Given the description of an element on the screen output the (x, y) to click on. 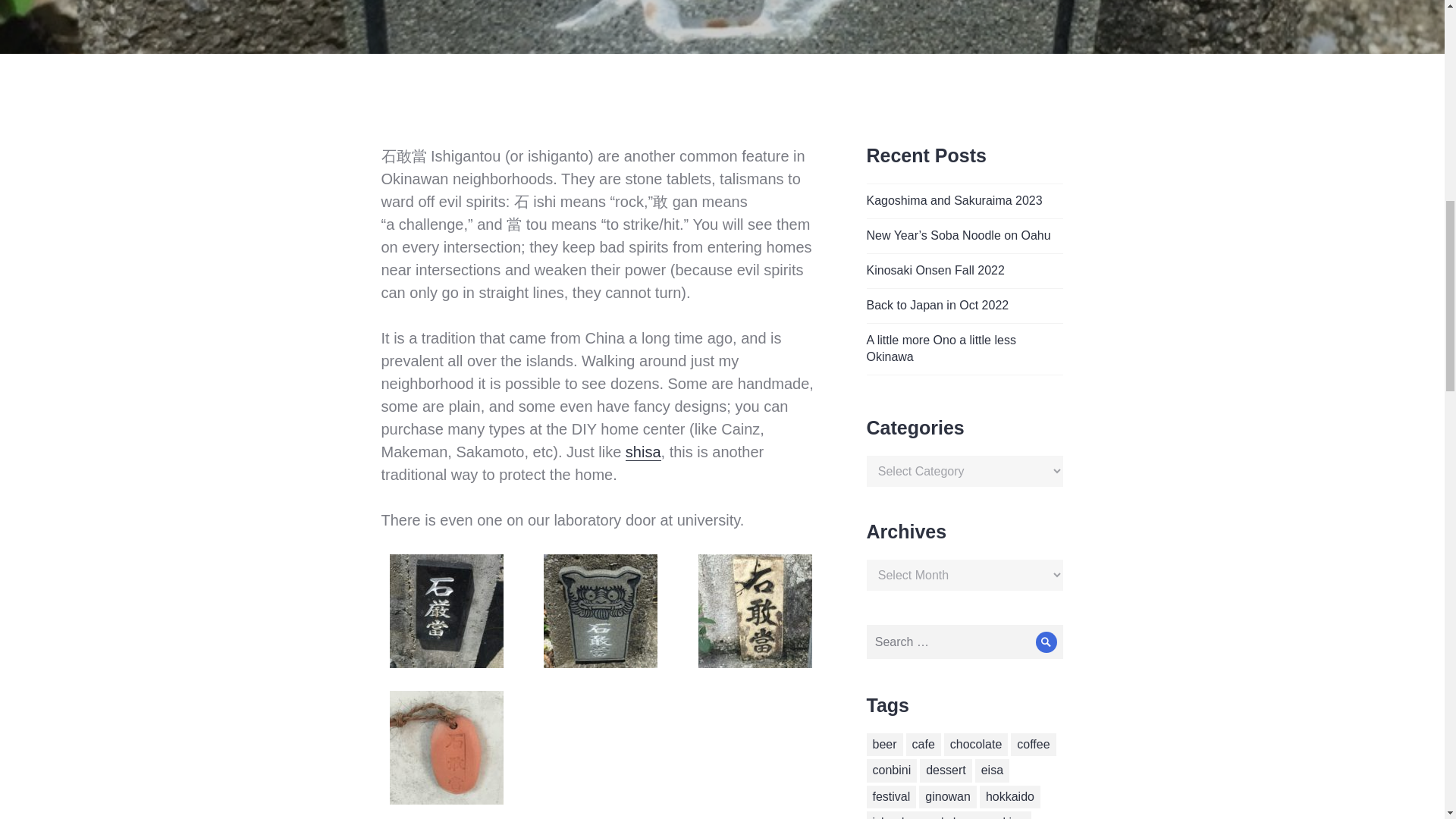
Kagoshima and Sakuraima 2023 (954, 200)
shisa (643, 451)
Kinosaki Onsen Fall 2022 (935, 269)
